Given the description of an element on the screen output the (x, y) to click on. 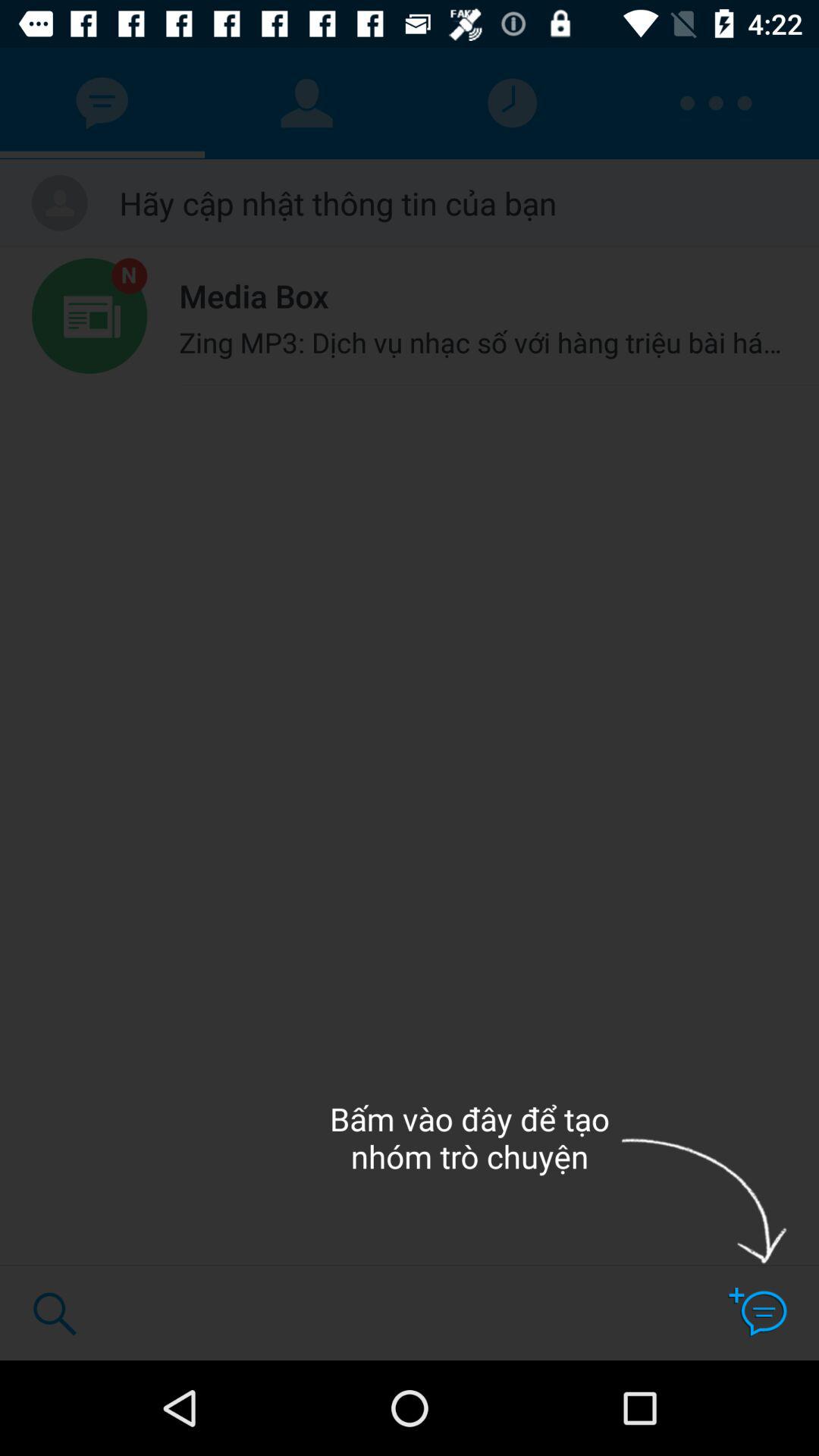
click on clock icon (511, 103)
click on the search icon (54, 1312)
click on the profile icon (306, 103)
click on the image to the left of the text media box (89, 316)
